Given the description of an element on the screen output the (x, y) to click on. 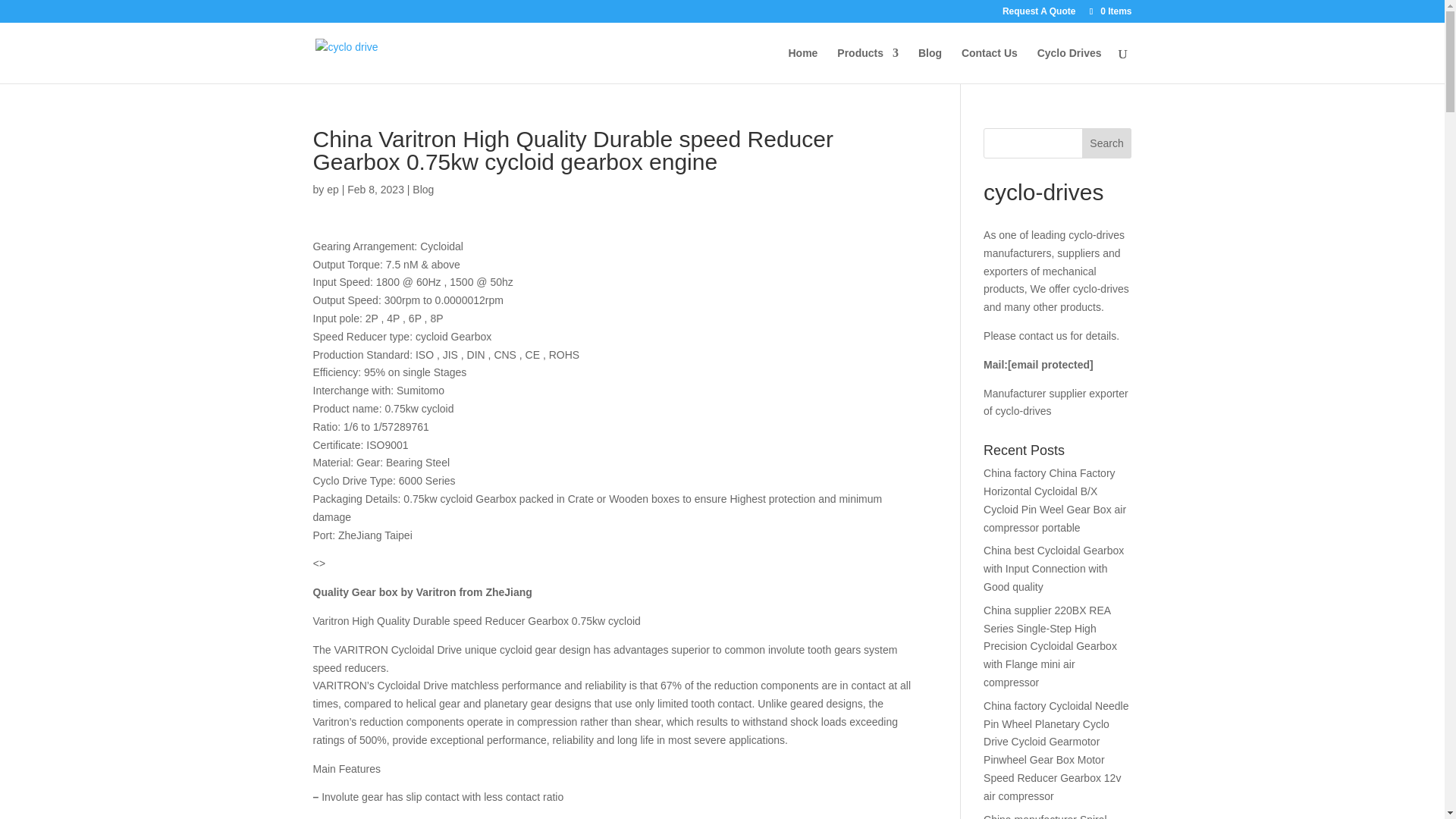
Blog (422, 189)
Search (1106, 142)
Cyclo Drives (1069, 65)
Request A Quote (1039, 14)
Products (867, 65)
Home (803, 65)
Posts by ep (332, 189)
Search (1106, 142)
0 Items (1108, 10)
ep (332, 189)
Contact Us (988, 65)
